Given the description of an element on the screen output the (x, y) to click on. 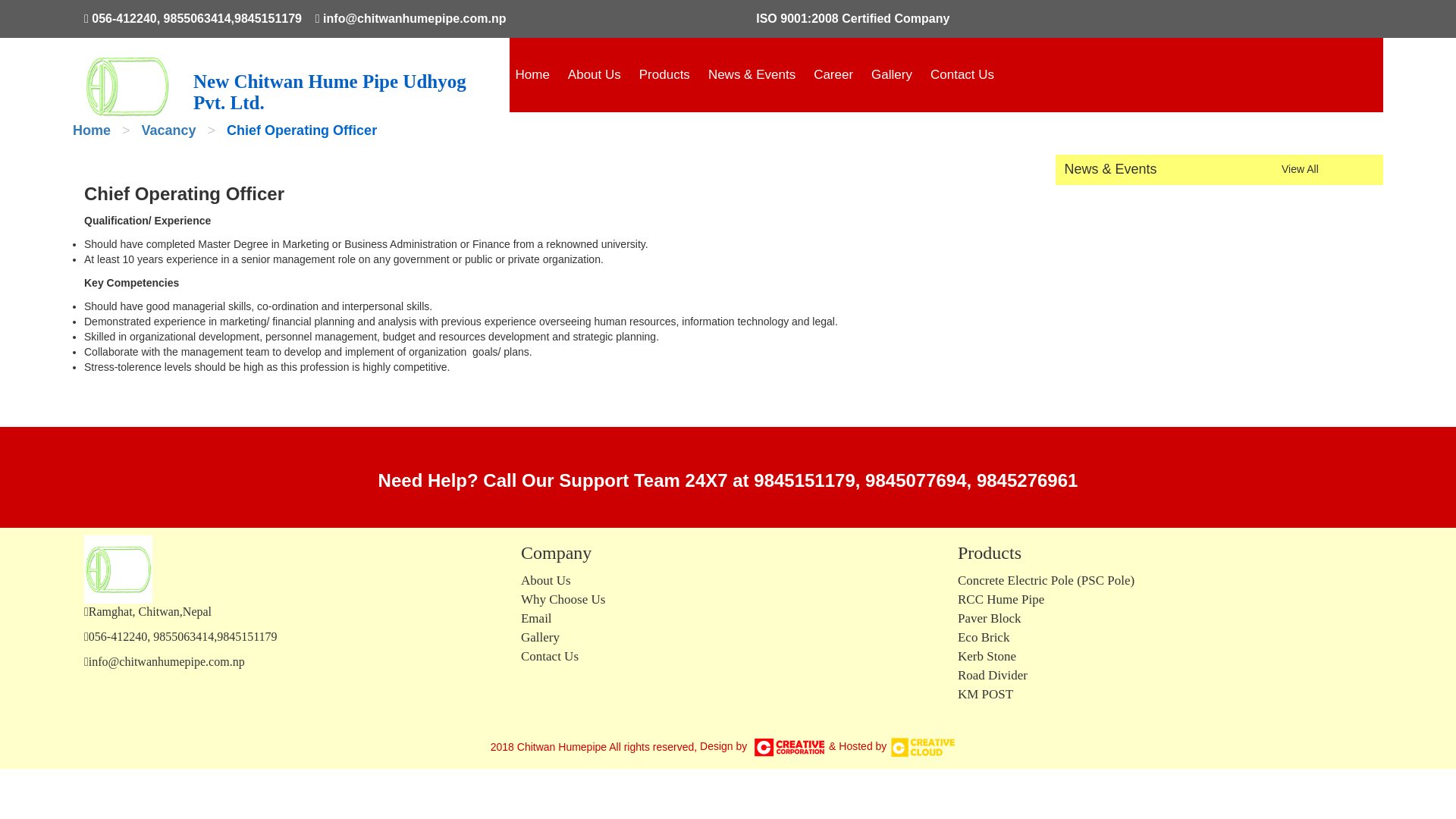
Home (91, 130)
Why Choose Us (563, 599)
Contact Us (962, 74)
About Us (594, 74)
Products (664, 74)
Paver Block (990, 617)
Gallery (540, 636)
Kerb Stone (987, 656)
About Us (545, 580)
New Chitwan Hume Pipe Udhyog Pvt. Ltd. (345, 83)
Contact Us (962, 74)
Road Divider (992, 675)
Chief Operating Officer (302, 130)
RCC Hume Pipe (1000, 599)
About Us (594, 74)
